Given the description of an element on the screen output the (x, y) to click on. 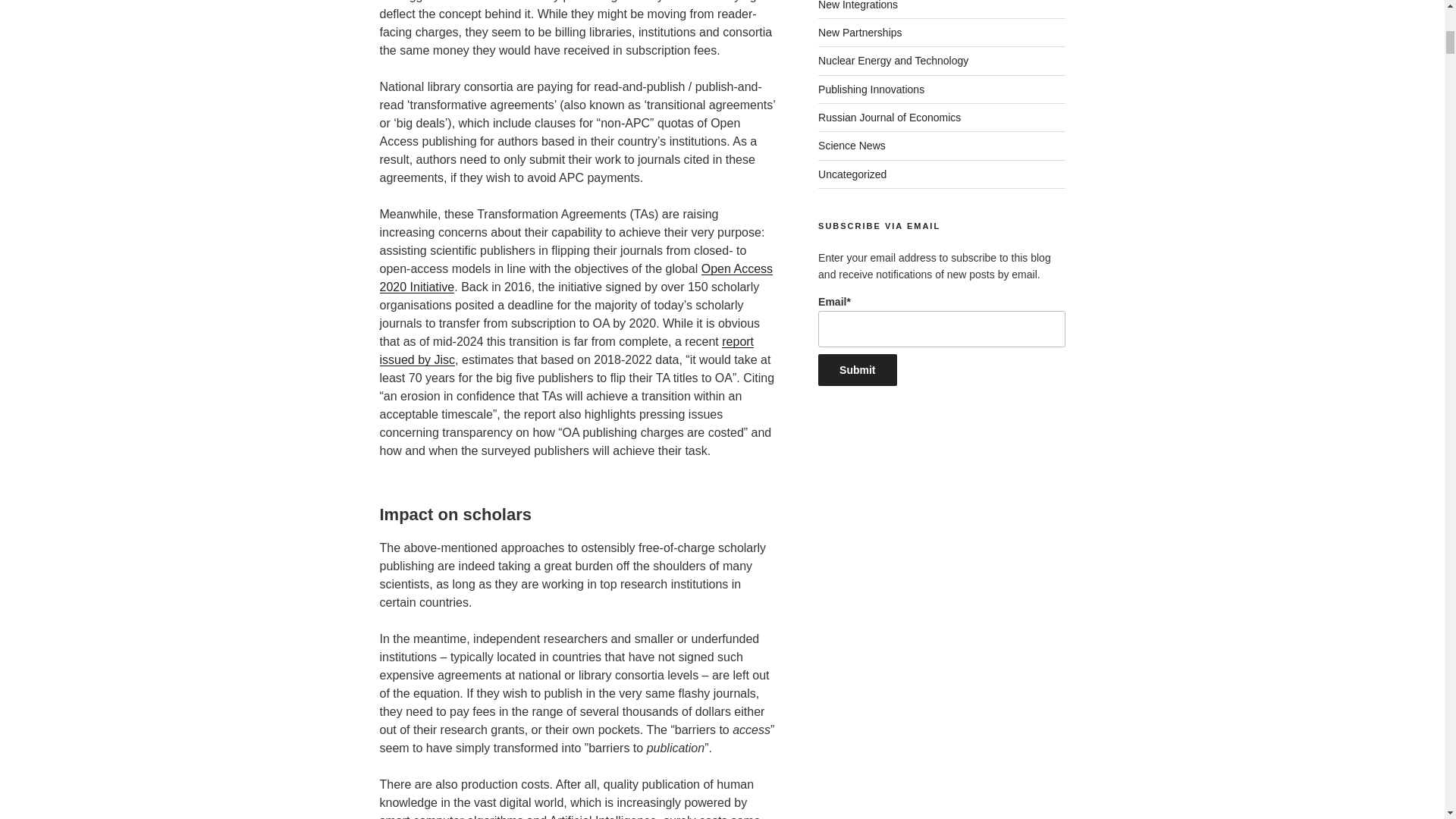
Open Access 2020 Initiative (575, 277)
Submit (857, 369)
report issued by Jisc (566, 350)
